Given the description of an element on the screen output the (x, y) to click on. 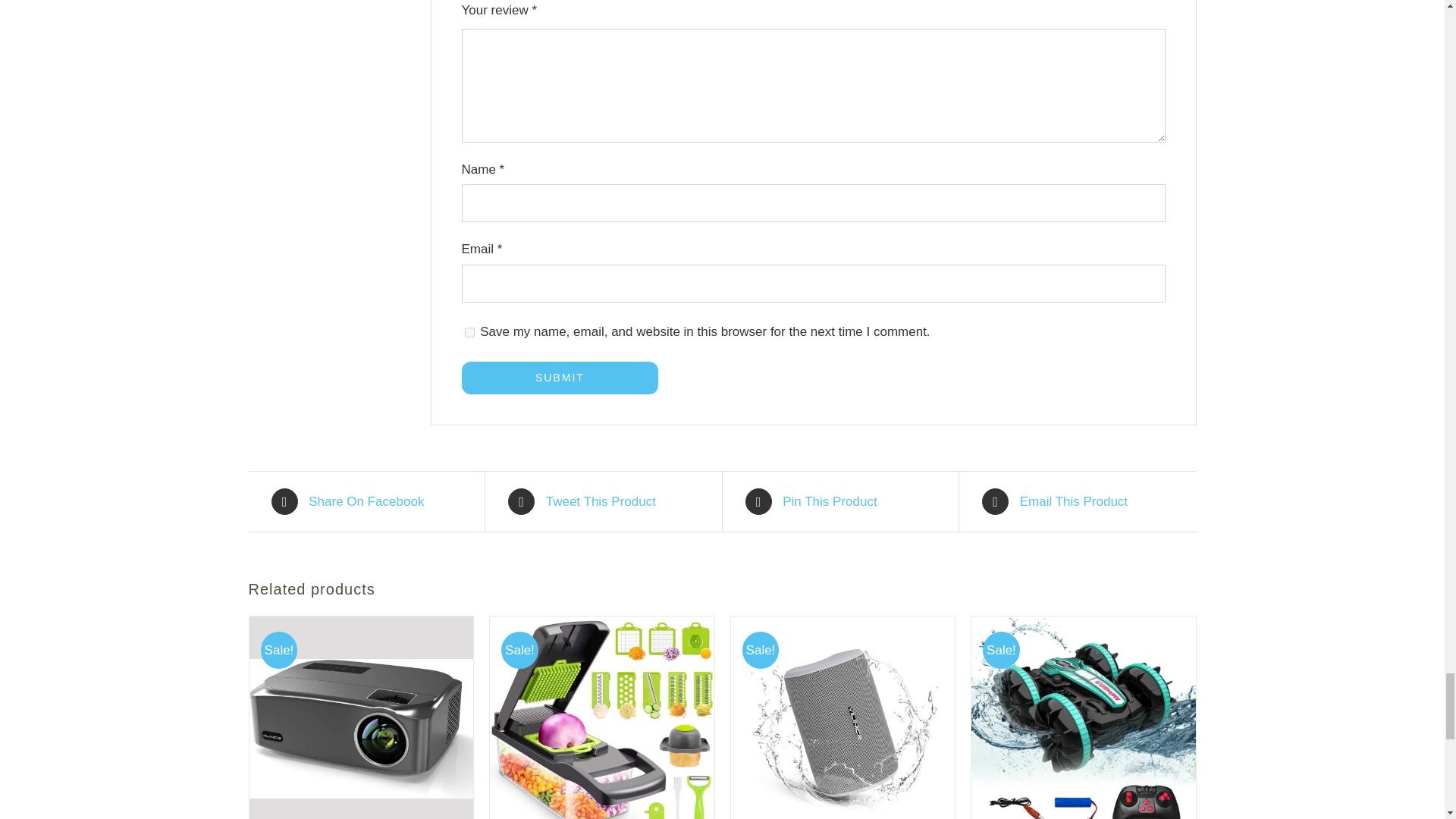
Submit (559, 377)
Share On Facebook (366, 501)
Email This Product (1077, 501)
Tweet This Product (603, 501)
Pin This Product (840, 501)
yes (469, 332)
Submit (559, 377)
